Given the description of an element on the screen output the (x, y) to click on. 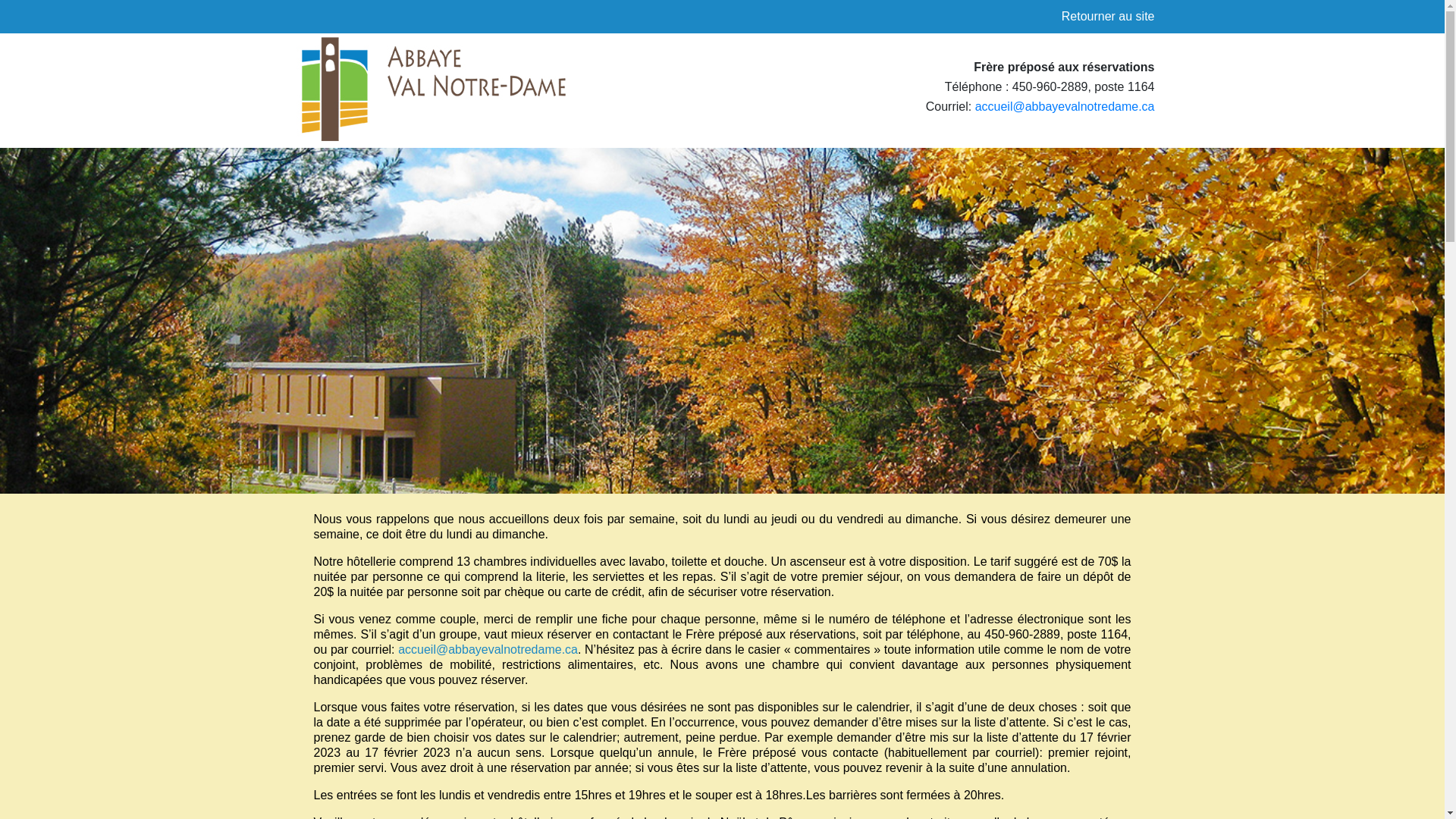
Retourner au site Element type: text (1107, 15)
accueil@abbayevalnotredame.ca Element type: text (1064, 106)
accueil@abbayevalnotredame.ca Element type: text (487, 649)
